Given the description of an element on the screen output the (x, y) to click on. 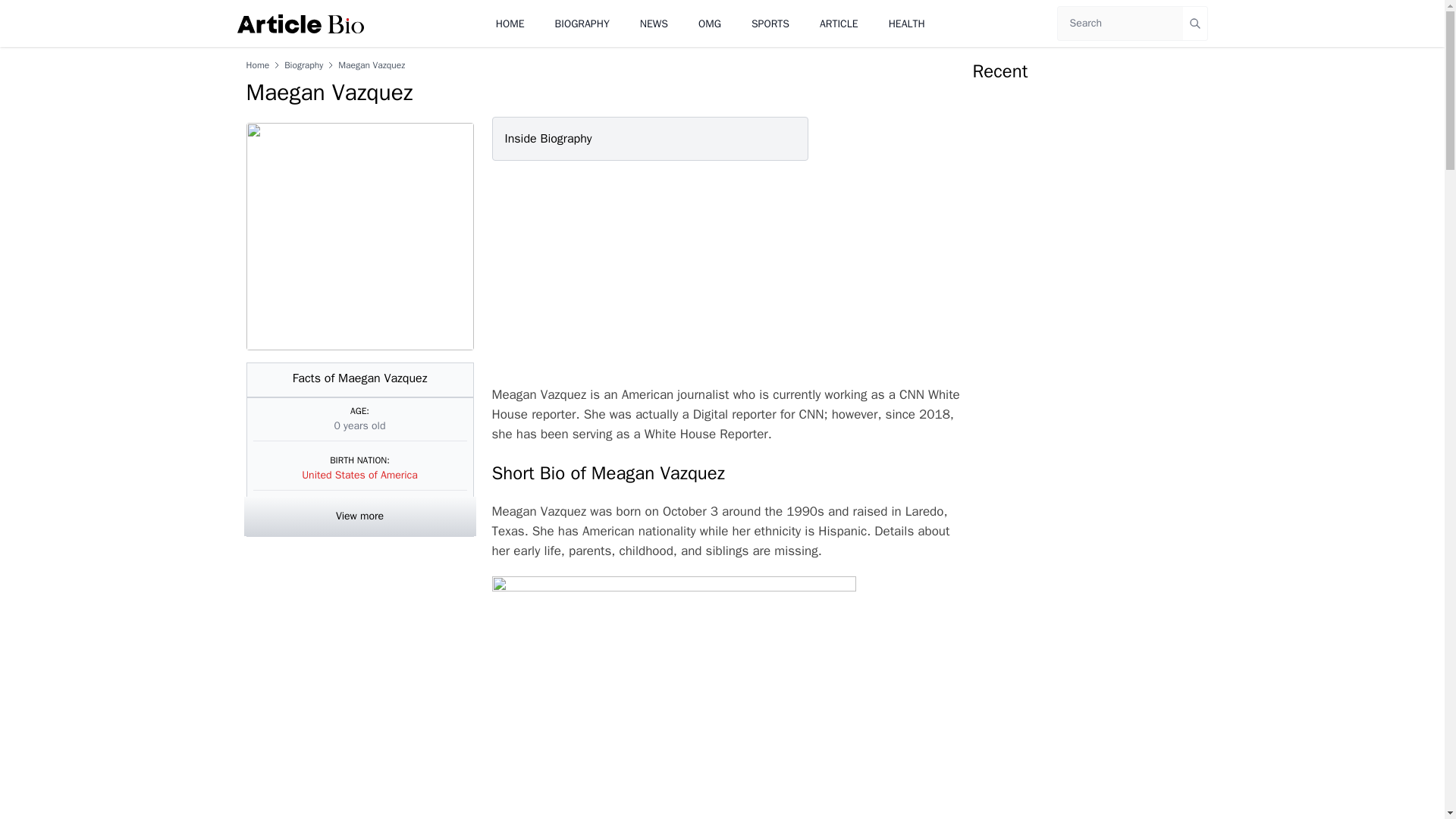
Home (257, 64)
NEWS (654, 23)
SPORTS (770, 23)
HEALTH (906, 23)
ARTICLE (839, 23)
Biography (303, 64)
BIOGRAPHY (582, 23)
OMG (709, 23)
United States of America (359, 474)
HOME (510, 23)
